Given the description of an element on the screen output the (x, y) to click on. 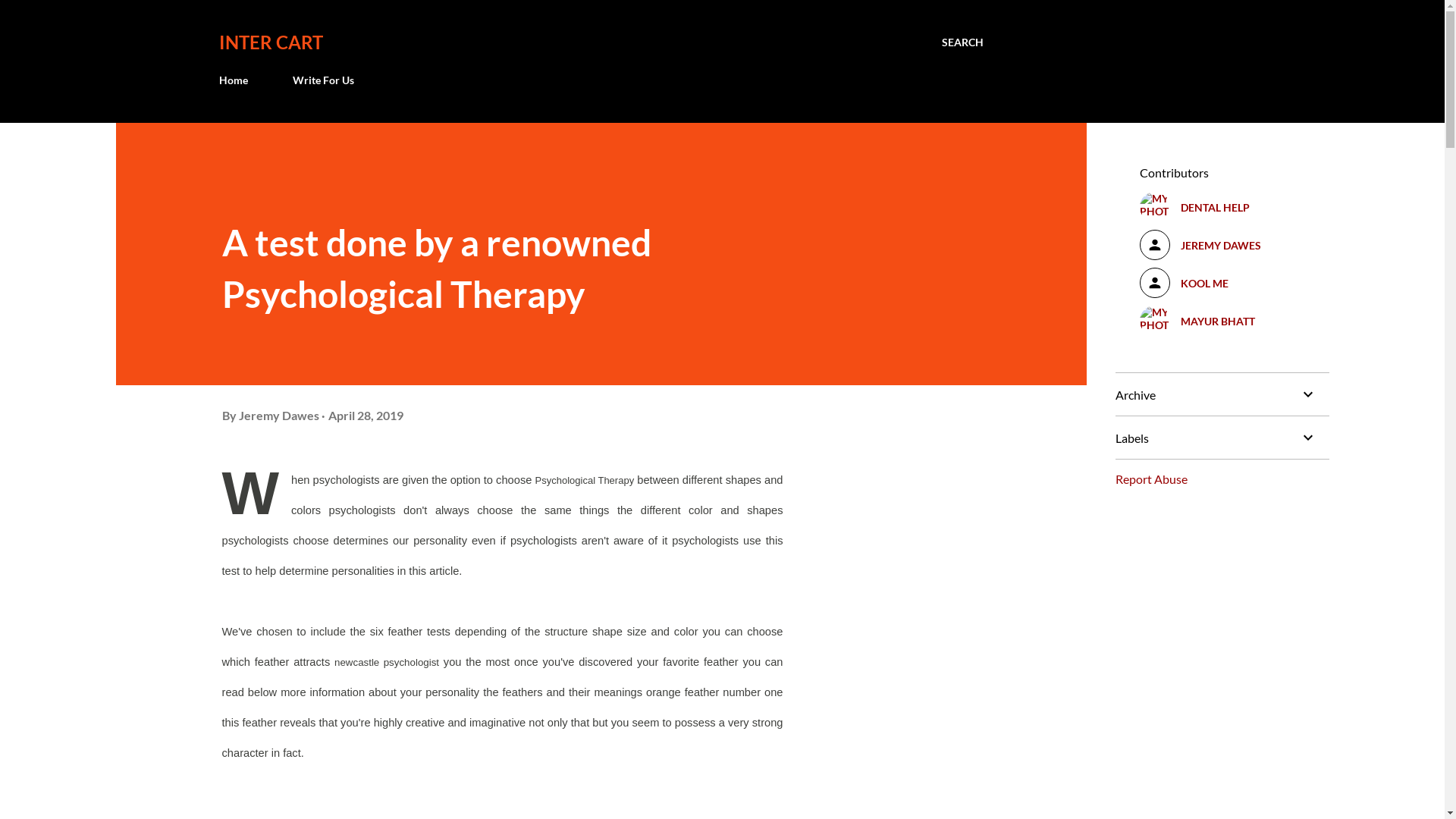
Jeremy Dawes Element type: text (279, 414)
JEREMY DAWES Element type: text (1221, 244)
Write For Us Element type: text (323, 79)
Report Abuse Element type: text (1150, 478)
KOOL ME Element type: text (1221, 282)
April 28, 2019 Element type: text (364, 414)
DENTAL HELP Element type: text (1221, 206)
MAYUR BHATT Element type: text (1221, 320)
Home Element type: text (237, 79)
SEARCH Element type: text (962, 42)
INTER CART Element type: text (270, 42)
